Given the description of an element on the screen output the (x, y) to click on. 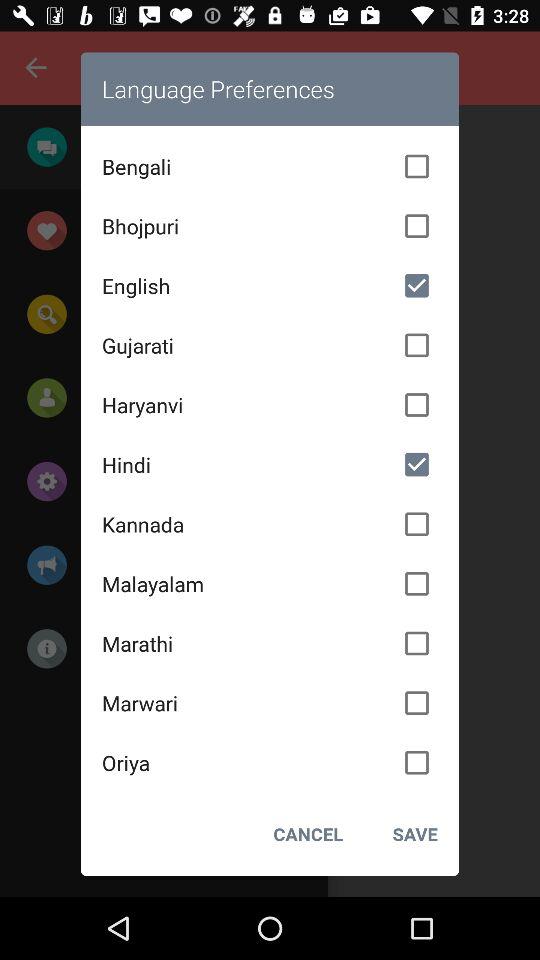
select save at the bottom right corner (406, 833)
